Given the description of an element on the screen output the (x, y) to click on. 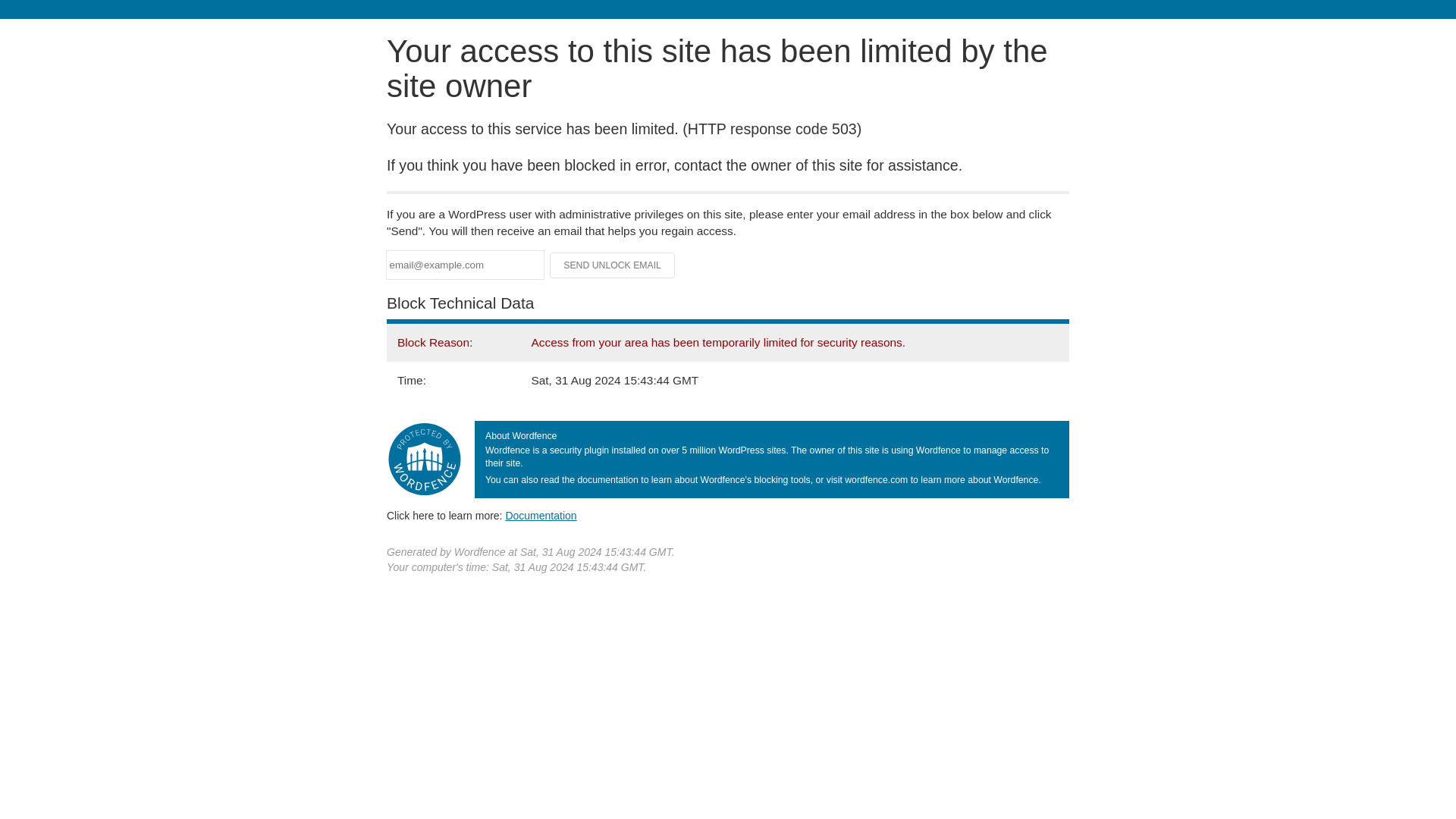
Send Unlock Email (612, 265)
Send Unlock Email (612, 265)
Documentation (540, 515)
